Given the description of an element on the screen output the (x, y) to click on. 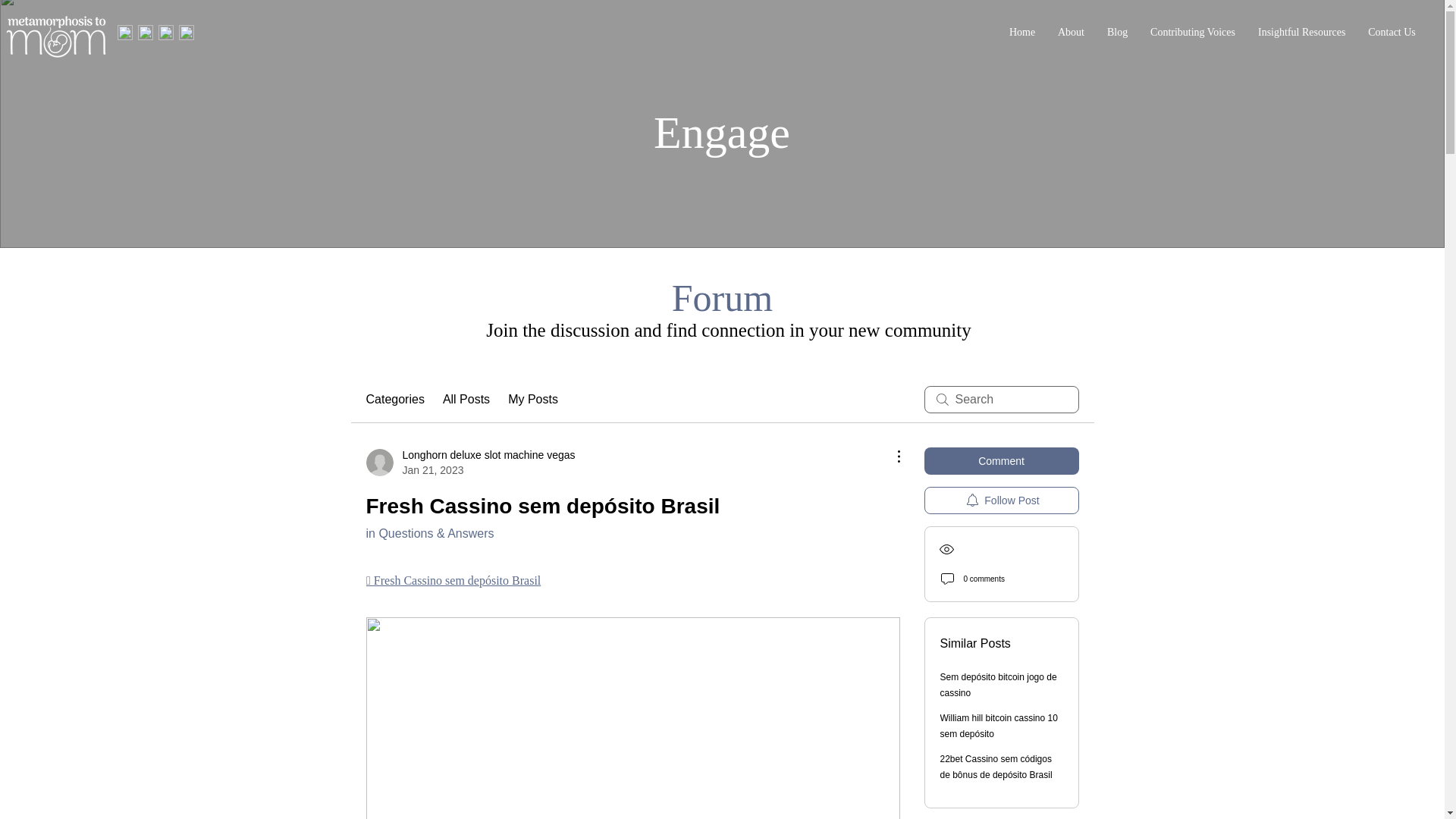
My Posts (532, 399)
Comment (1000, 461)
Home (1021, 32)
Contributing Voices (1192, 32)
All Posts (465, 399)
Blog (1117, 32)
About (470, 462)
Categories (1071, 32)
Follow Post (394, 399)
Insightful Resources (1000, 500)
Contact Us (1301, 32)
